Given the description of an element on the screen output the (x, y) to click on. 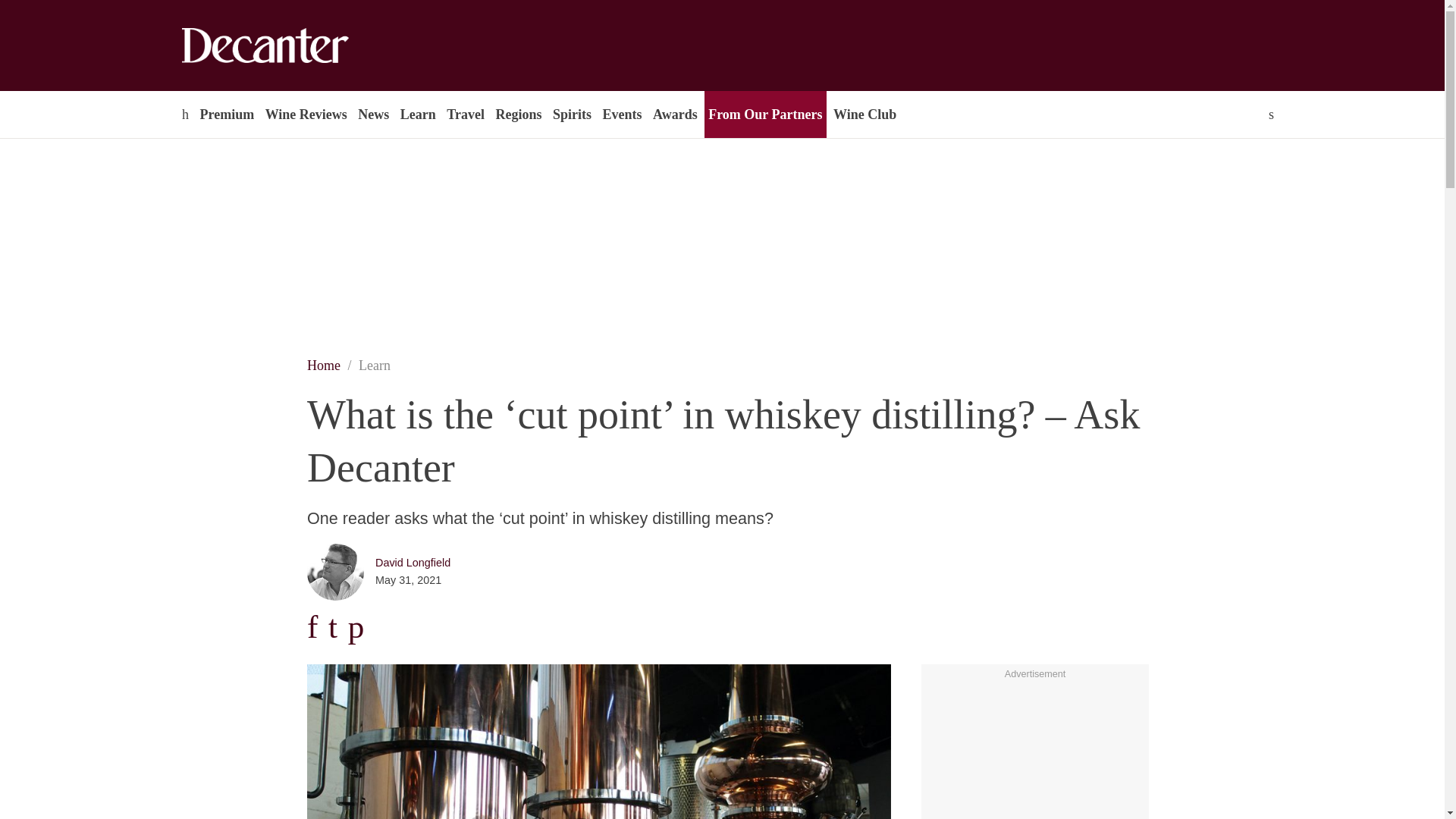
Travel (464, 114)
Premium (226, 114)
Learn (417, 114)
Awards (675, 114)
Decanter (297, 45)
Wine Reviews (306, 114)
